Given the description of an element on the screen output the (x, y) to click on. 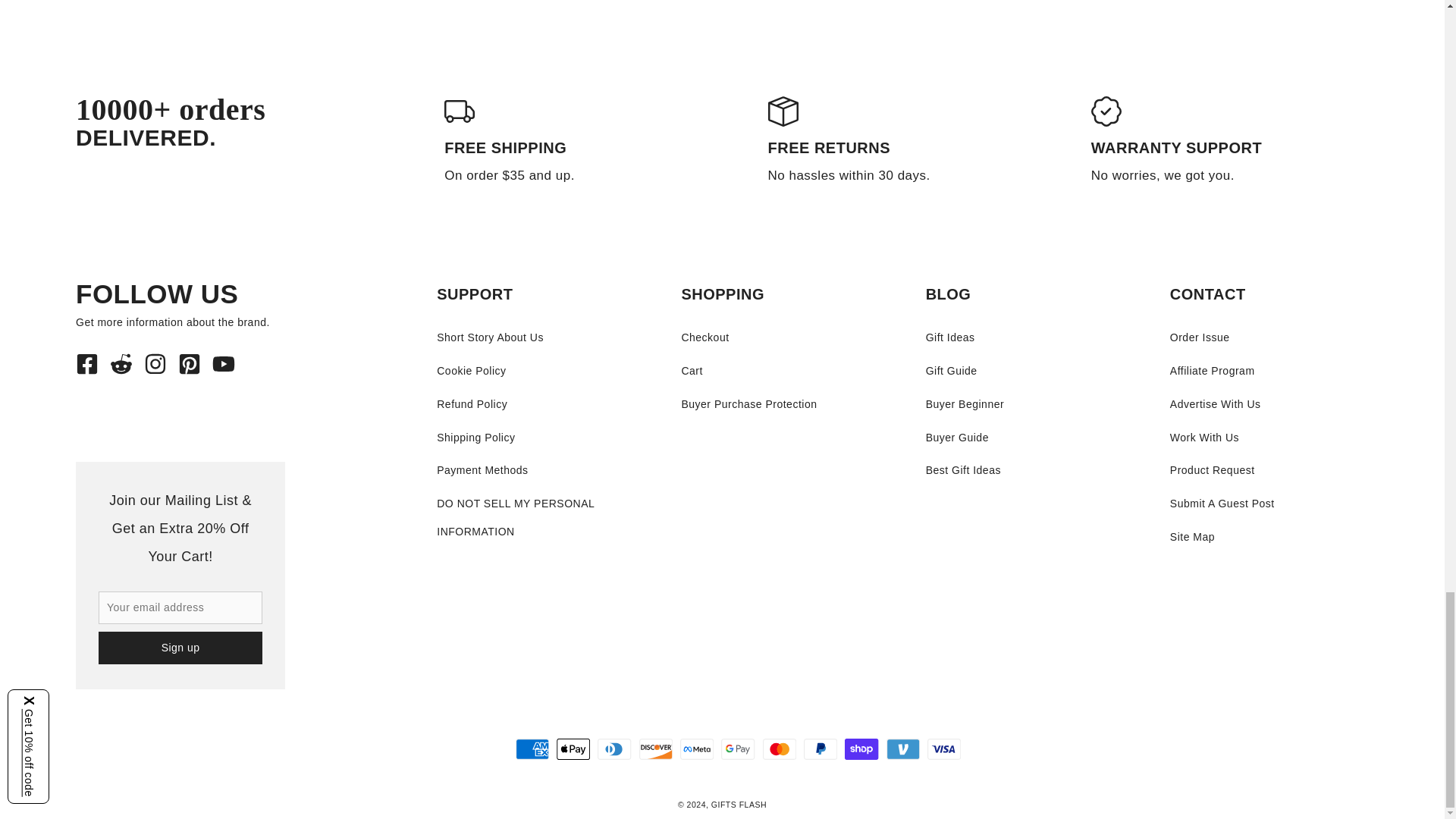
Sign up (180, 647)
Google Pay (737, 749)
Diners Club (613, 749)
Shop Pay (860, 749)
Visa (943, 749)
Mastercard (779, 749)
Apple Pay (572, 749)
Discover (655, 749)
American Express (531, 749)
Meta Pay (696, 749)
